Given the description of an element on the screen output the (x, y) to click on. 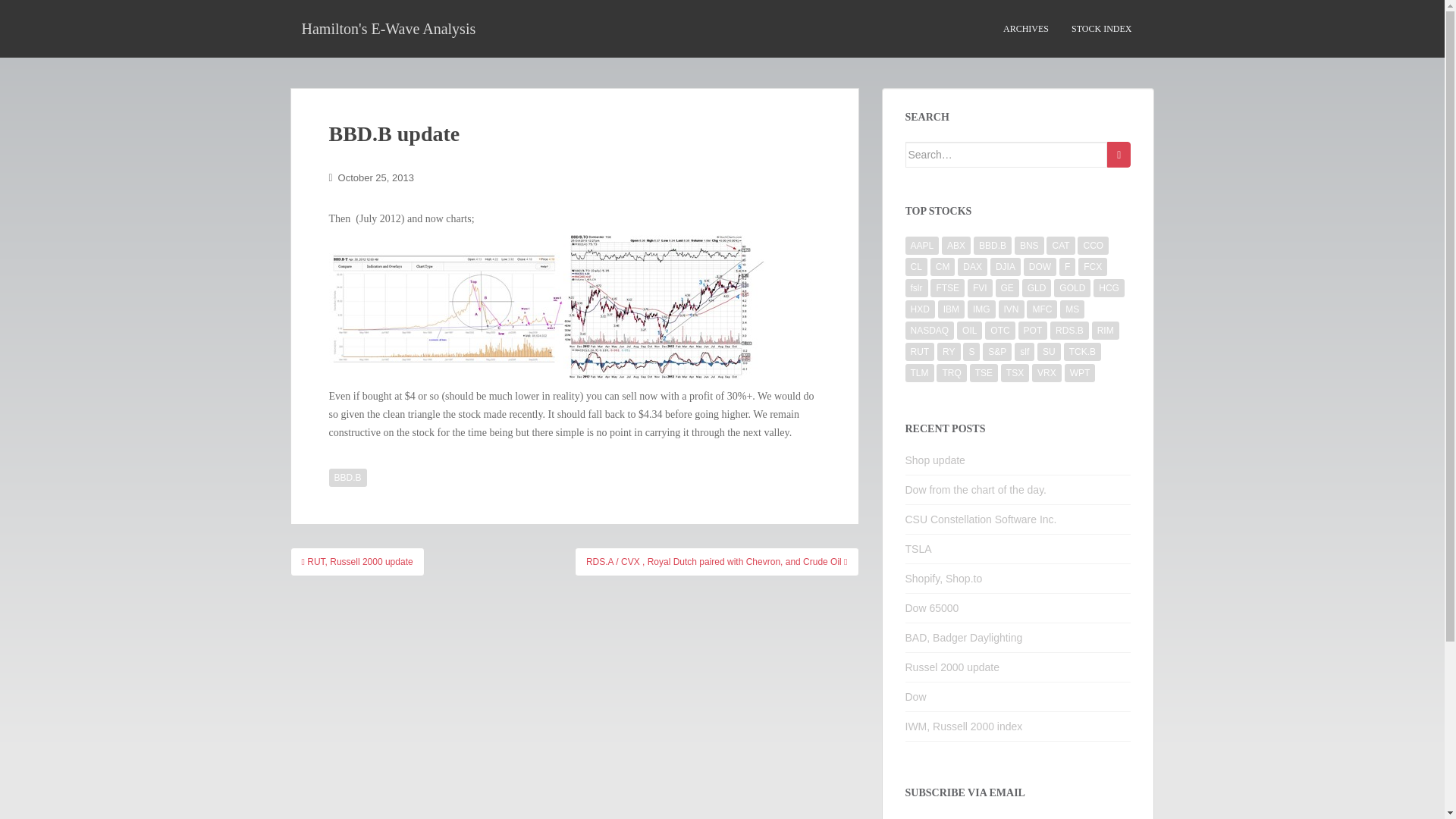
ABX (956, 245)
CM (942, 266)
DOW (1040, 266)
MS (1071, 309)
MFC (1041, 309)
HCG (1108, 288)
BBD.B (347, 477)
Hamilton's E-Wave Analysis (387, 28)
RUT, Russell 2000 update (356, 561)
bbd.b 25 oct 2013 (671, 307)
